Given the description of an element on the screen output the (x, y) to click on. 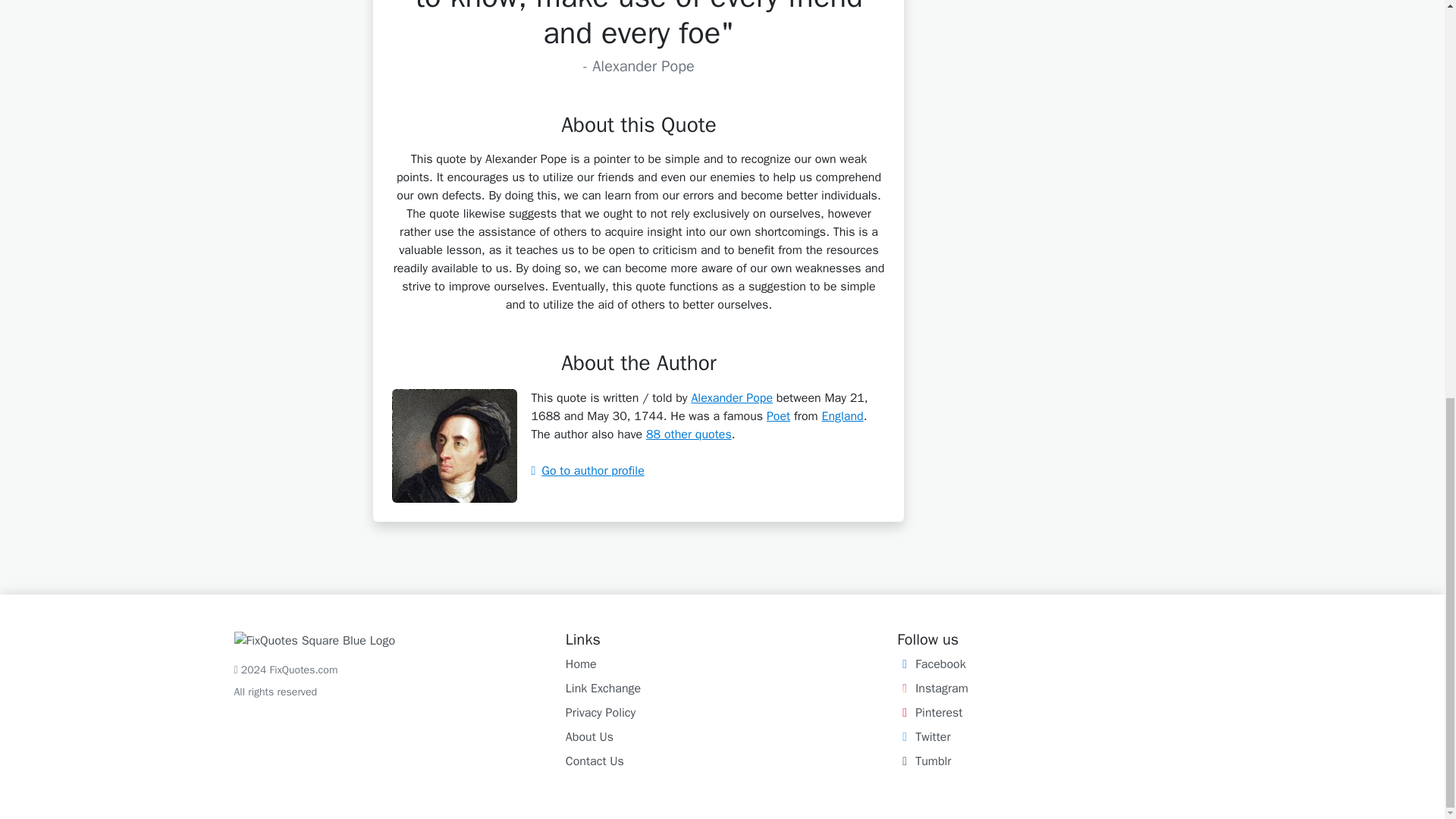
Pinterest (929, 712)
Alexander Pope (731, 397)
Instagram (932, 688)
About Us (589, 736)
England (842, 416)
Tumblr (923, 761)
Link Exchange (603, 688)
Go to author profile (587, 470)
Privacy Policy (600, 712)
Poet (778, 416)
88 other quotes (689, 434)
Contact Us (595, 761)
Twitter (923, 736)
Facebook (930, 663)
Home (581, 663)
